Given the description of an element on the screen output the (x, y) to click on. 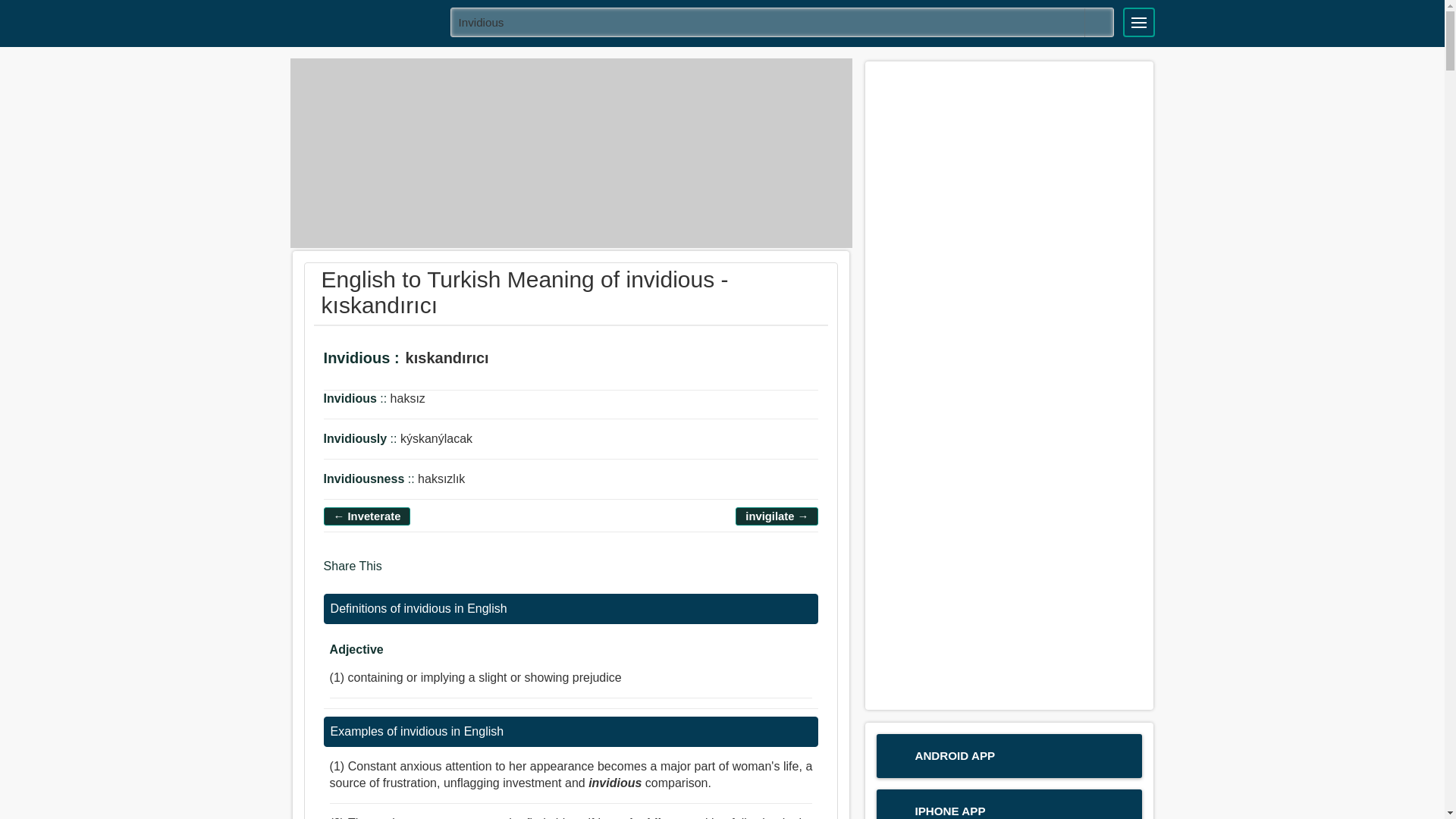
Say The Word (513, 360)
English to Turkish meaning of invigilate (776, 515)
Search (1098, 22)
Twitter (428, 573)
English to Turkish meaning of inveterate (367, 515)
Facebook (398, 573)
More Share (485, 573)
invidious (782, 21)
Linkedin (458, 573)
TURKISH (365, 20)
Add To Favorites (556, 360)
